Given the description of an element on the screen output the (x, y) to click on. 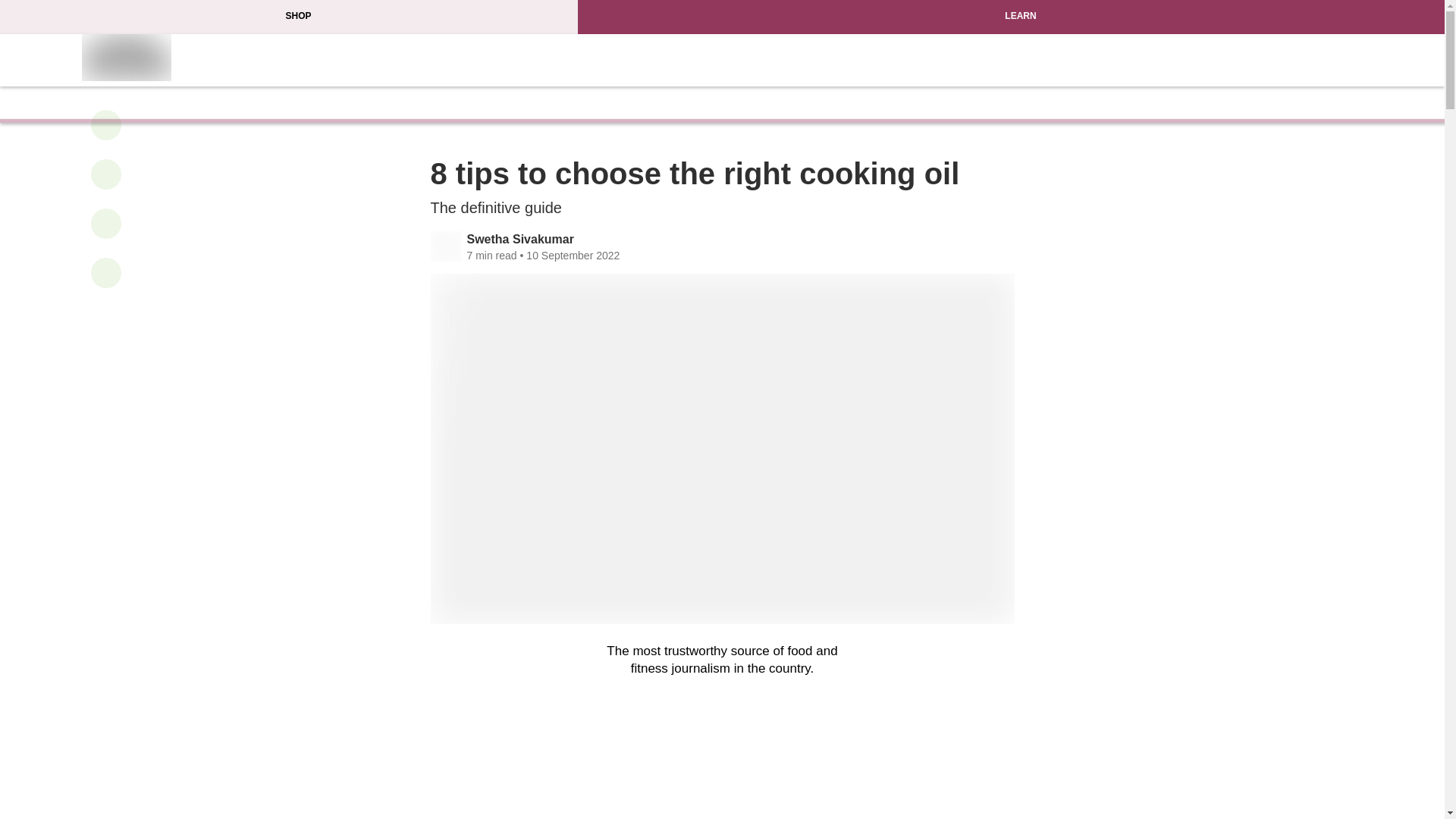
SHOP (289, 17)
